Given the description of an element on the screen output the (x, y) to click on. 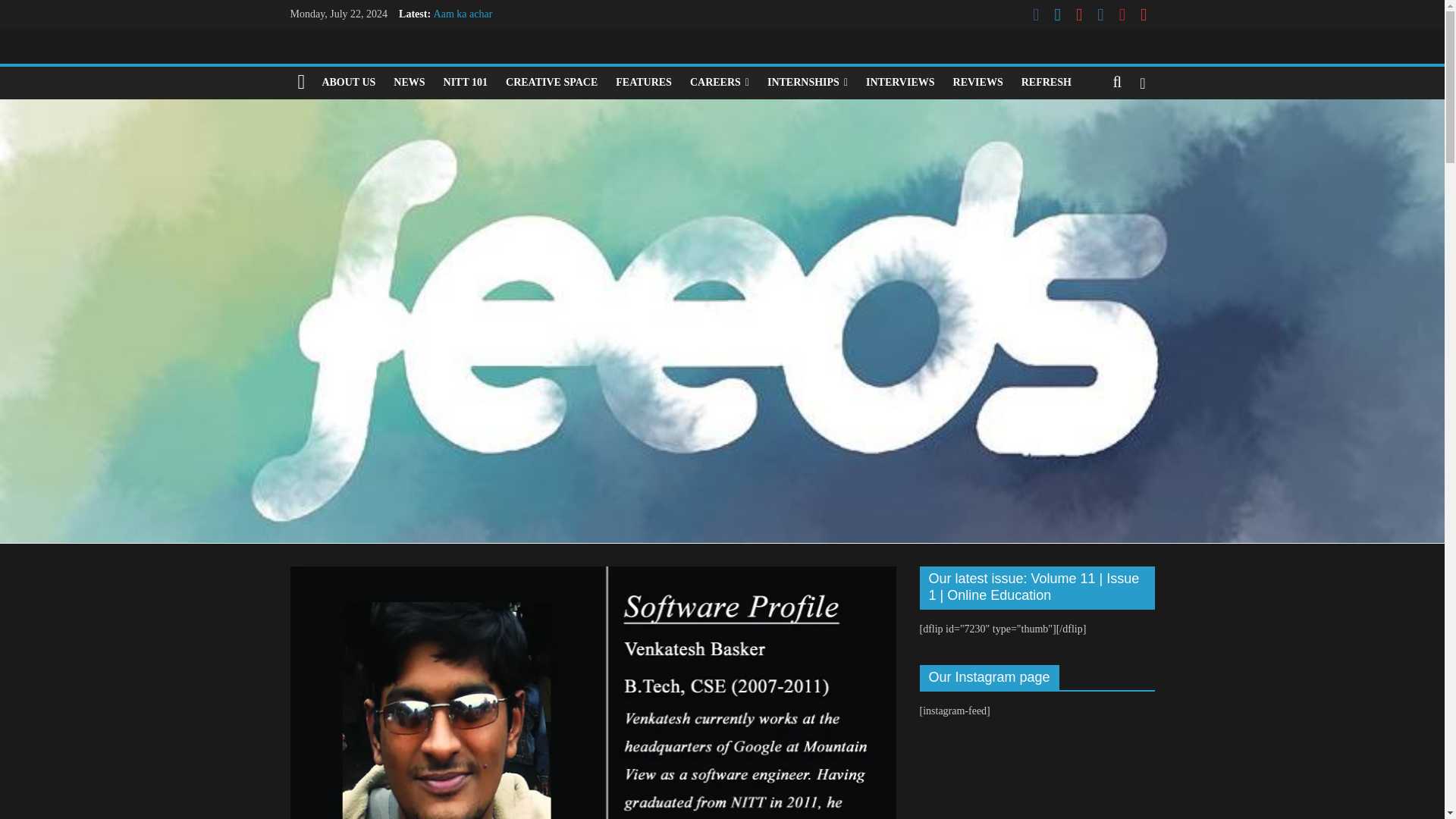
Aam ka achar (463, 13)
Feeds NITT (301, 82)
CREATIVE SPACE (551, 82)
Whispers of a new Dawn (487, 48)
ABOUT US (348, 82)
View a random post (1142, 82)
Aam ka achar (463, 13)
Whispers of a new Dawn (487, 48)
Silent Nights (461, 30)
NEWS (408, 82)
CAREERS (719, 82)
Once Upon A Pride (474, 64)
NITT 101 (464, 82)
FEATURES (644, 82)
Once Upon A Pride (474, 64)
